Given the description of an element on the screen output the (x, y) to click on. 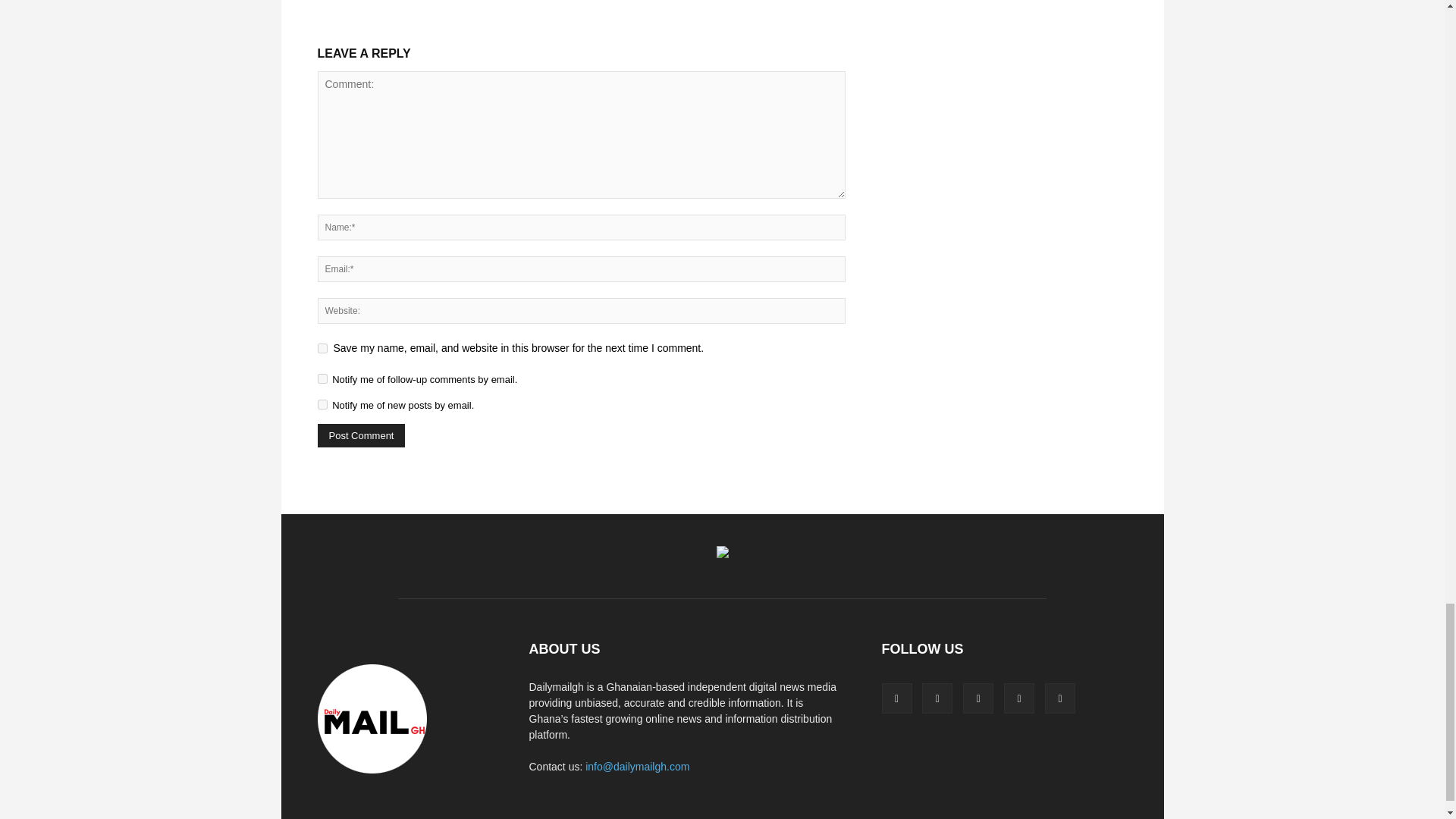
Post Comment (360, 435)
subscribe (321, 404)
yes (321, 347)
subscribe (321, 378)
